Given the description of an element on the screen output the (x, y) to click on. 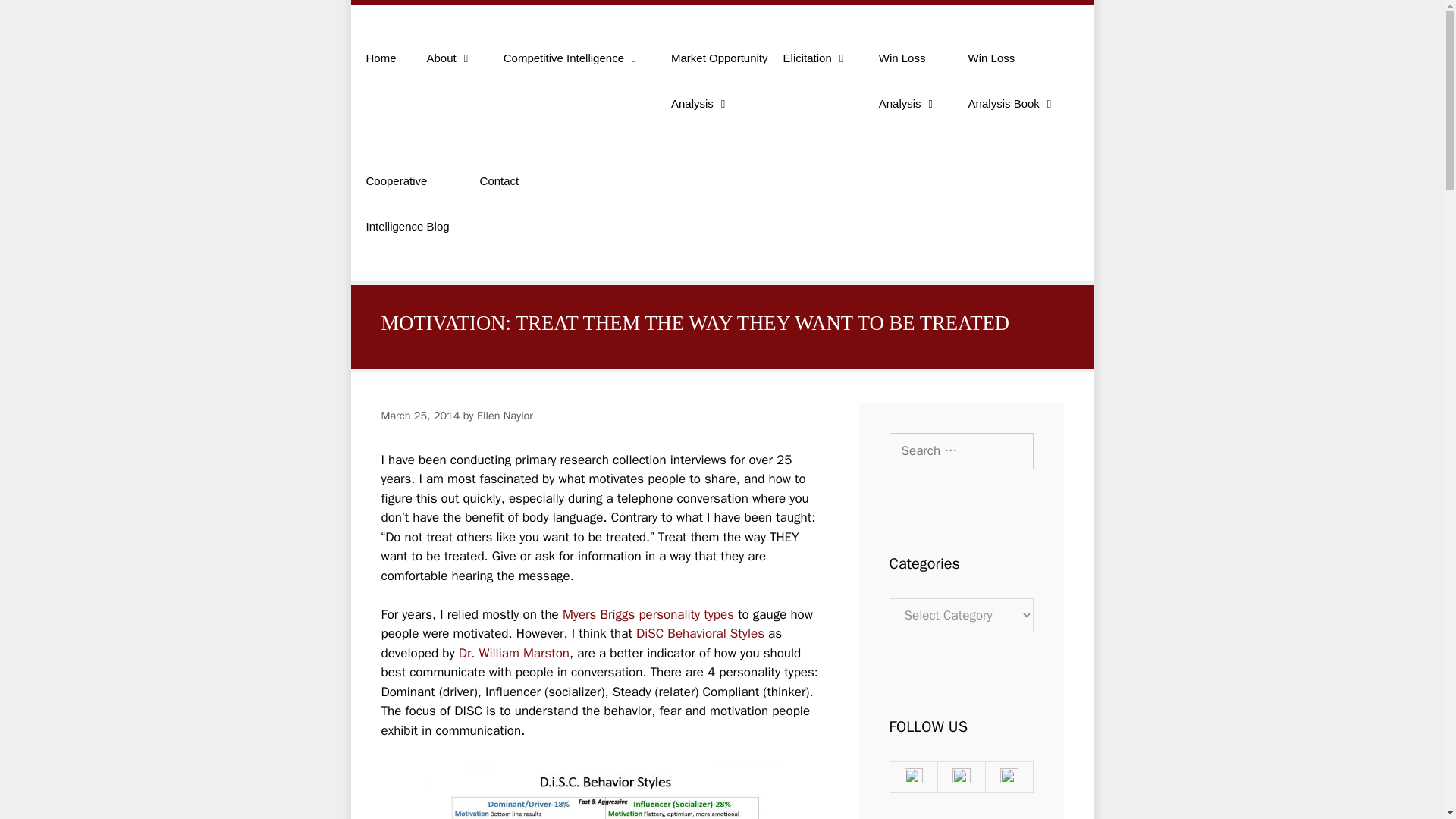
Dr. William Marston (513, 652)
Contact (499, 196)
Myers Briggs personality types (647, 614)
Elicitation (815, 74)
Search for: (712, 97)
Dr. William Marston (960, 451)
Competitive Intelligence (1012, 97)
About (513, 652)
Ellen Naylor (571, 74)
View all posts by Ellen Naylor (449, 74)
DiSC Behavioral Styles (504, 415)
DIsC Behavior Styles (504, 415)
